Given the description of an element on the screen output the (x, y) to click on. 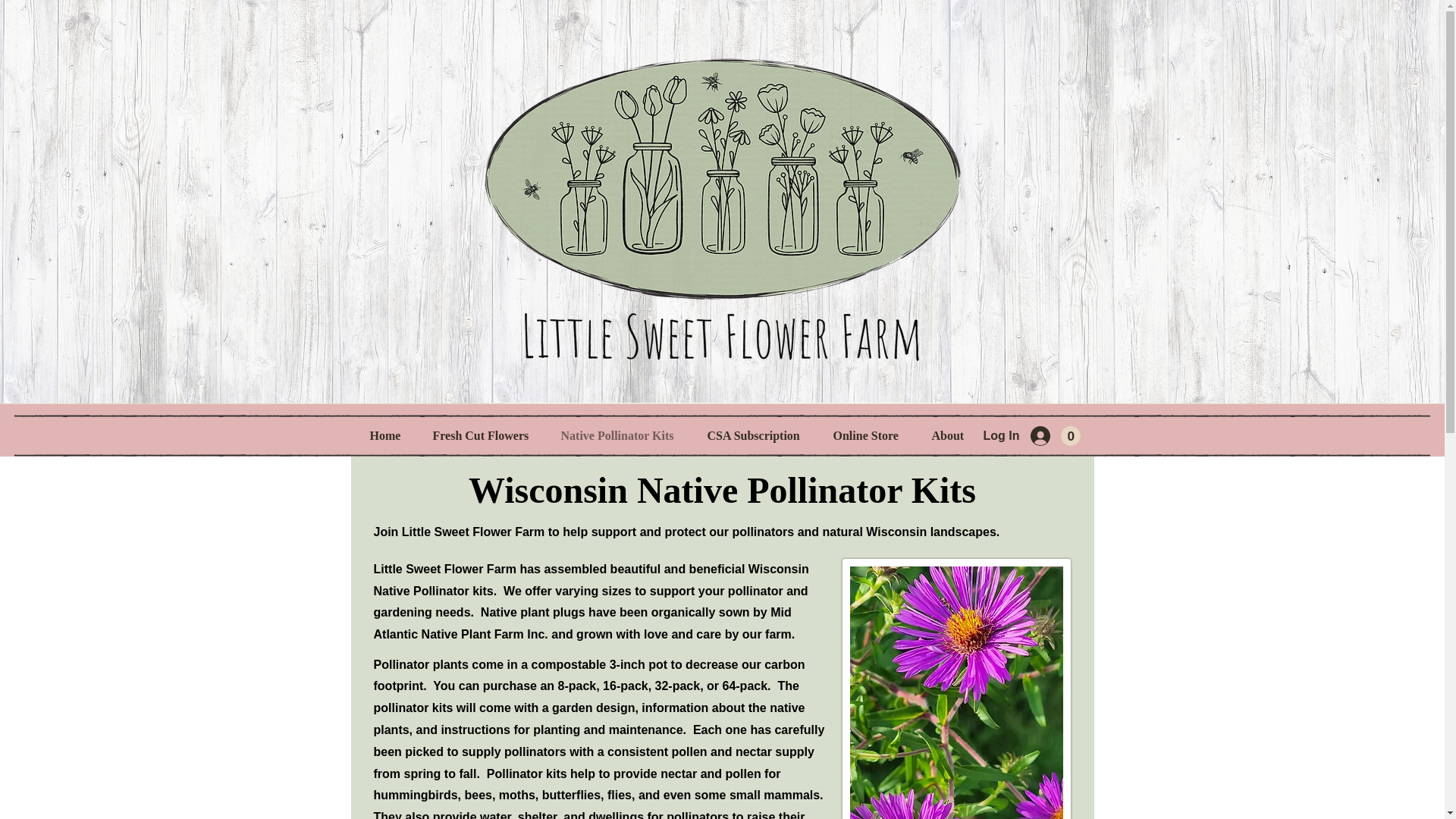
0 (1069, 435)
Home (389, 435)
Native Pollinator Kits (621, 435)
Online Store (871, 435)
0 (1069, 435)
Log In (1032, 436)
